Given the description of an element on the screen output the (x, y) to click on. 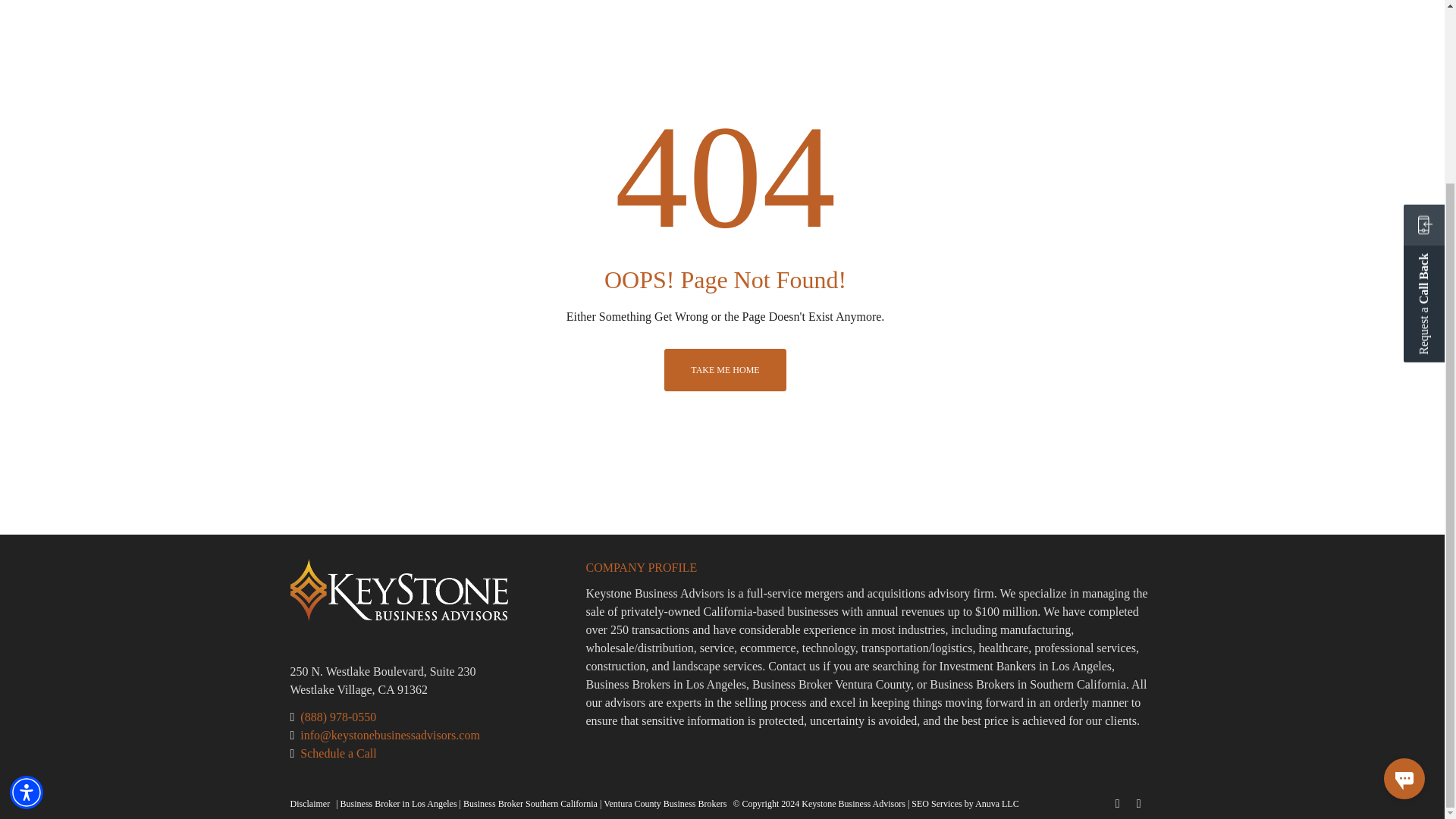
Accessibility Menu (26, 566)
